Given the description of an element on the screen output the (x, y) to click on. 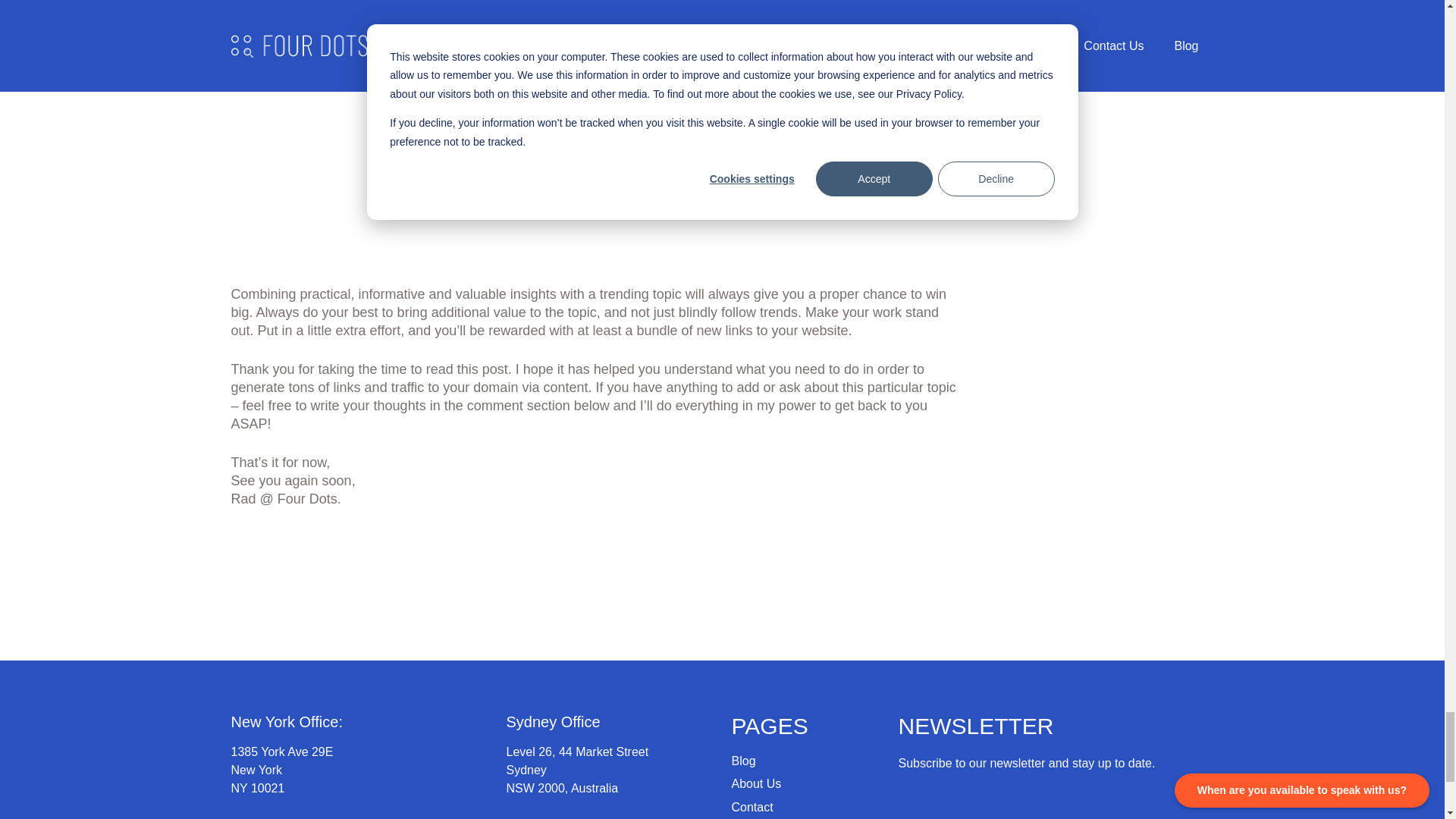
Form 0 (1055, 805)
